Given the description of an element on the screen output the (x, y) to click on. 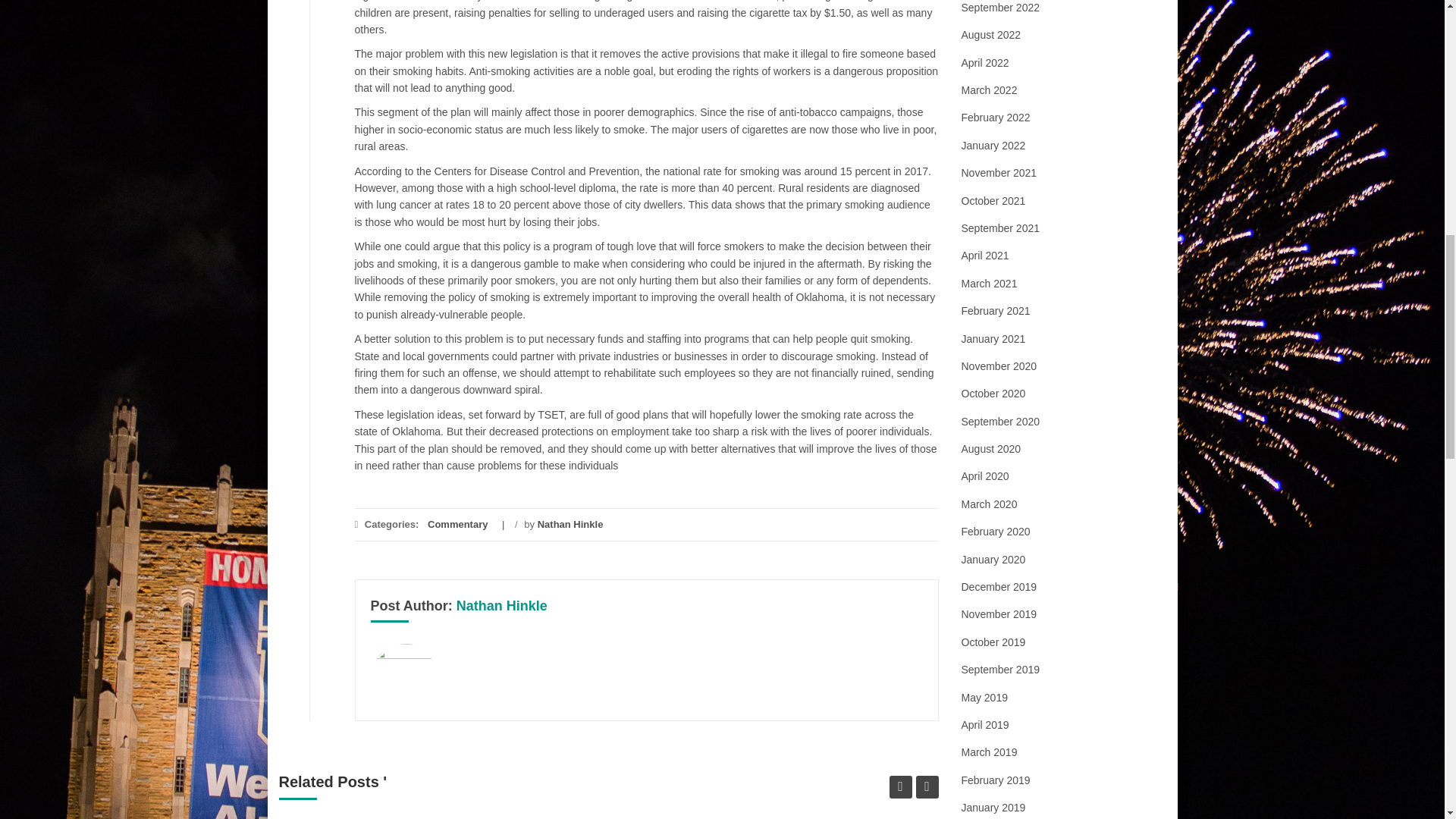
Nathan Hinkle (502, 605)
Commentary (457, 523)
Nathan Hinkle (570, 523)
